Given the description of an element on the screen output the (x, y) to click on. 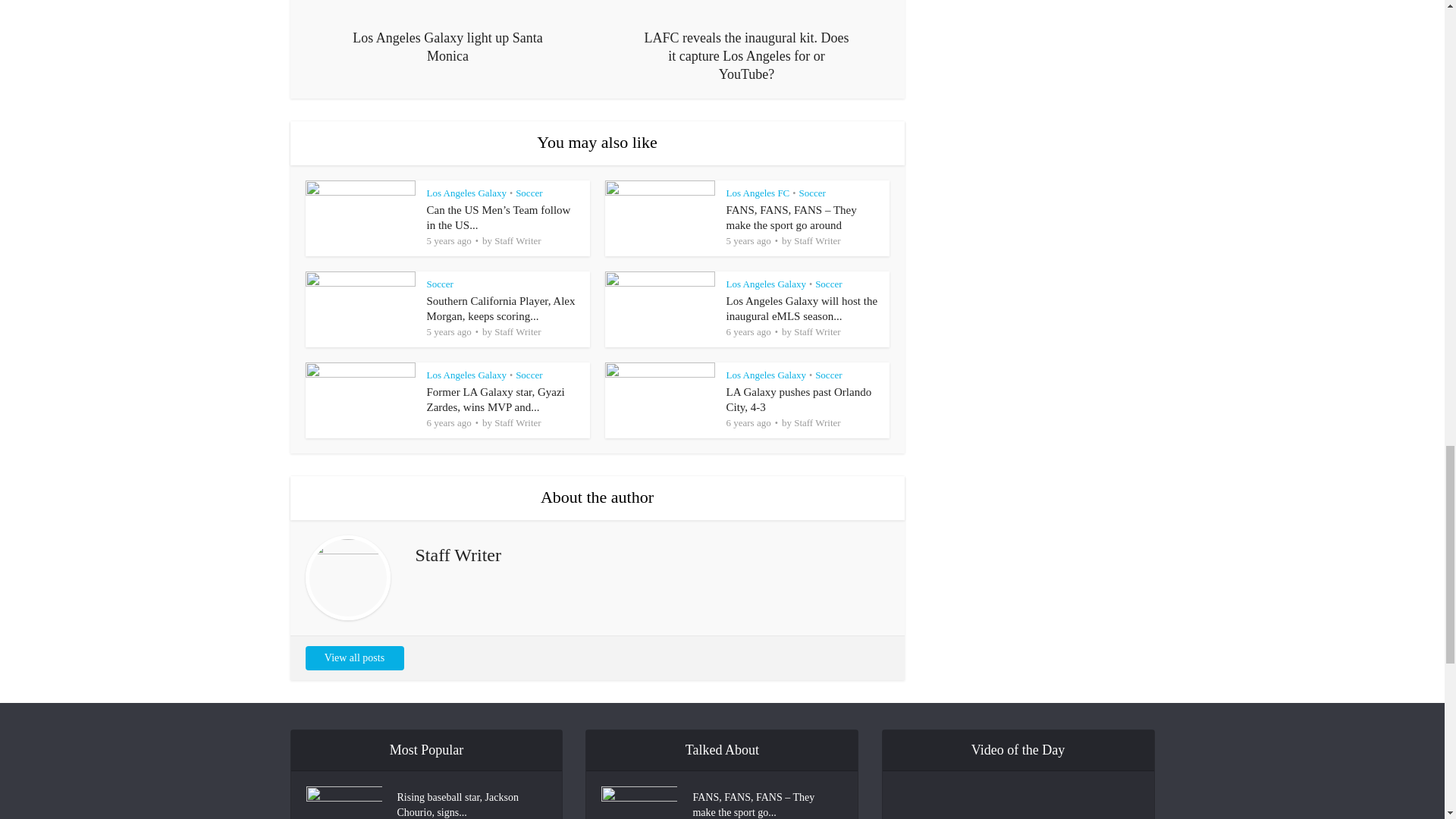
LA Galaxy pushes past Orlando City, 4-3 (799, 399)
Los Angeles Galaxy light up Santa Monica (447, 32)
